Given the description of an element on the screen output the (x, y) to click on. 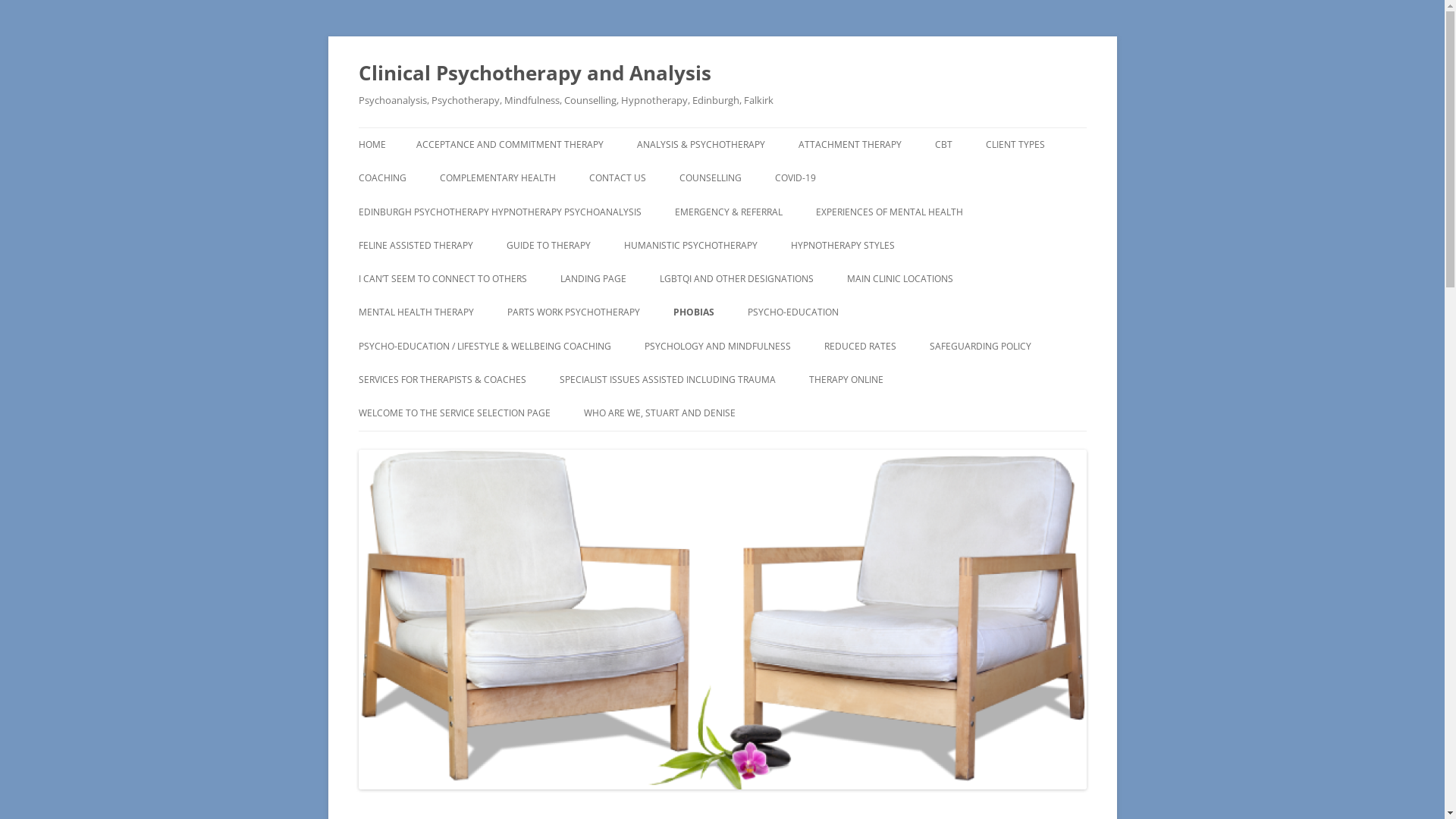
THERAPY ONLINE Element type: text (845, 379)
CBT Element type: text (942, 144)
MENTAL HEALTH THERAPY Element type: text (415, 312)
HYPNOSIS Element type: text (865, 277)
COGNITIVE BEHAVIOURAL ANALYSIS Element type: text (1009, 185)
MAIN CLINIC LOCATIONS Element type: text (899, 278)
EXECUTIVE LIFE COACHING AND MOTIVATIONAL COACHING Element type: text (433, 219)
COMPLEMENTARY HEALTH Element type: text (497, 177)
ATTACHMENT THERAPY Element type: text (848, 144)
WHO ARE WE, STUART AND DENISE Element type: text (659, 412)
Clinical Psychotherapy and Analysis Element type: text (533, 72)
GUIDE TO THERAPY Element type: text (548, 245)
PSYCHO-EDUCATION Element type: text (792, 312)
Skip to content Element type: text (759, 132)
PHOBIAS Element type: text (693, 312)
CANCELLATION POLICY Element type: text (659, 445)
CHILDREN AND ADOLESCENTS Element type: text (1061, 176)
HYPNOTHERAPY STYLES Element type: text (842, 245)
EMERGENCY & REFERRAL Element type: text (728, 212)
PARTS WORK PSYCHOTHERAPY Element type: text (572, 312)
LINKS Element type: text (433, 411)
ON-LINE ANALYSIS AND PSYCHOANALYSIS Element type: text (884, 420)
COVID-19 Element type: text (795, 177)
CLIENT TYPES Element type: text (1014, 144)
PSYCHO-EDUCATION / LIFESTYLE & WELLBEING COACHING Element type: text (483, 346)
SAFEGUARDING POLICY Element type: text (980, 346)
ANALYSIS Element type: text (712, 176)
PSYCHOLOGY AND MINDFULNESS Element type: text (717, 346)
ATTENTION FOCUS TRAINING Element type: text (720, 378)
ETHICAL MINDFULNESS Element type: text (699, 277)
ANGER MANAGEMENT Element type: text (635, 411)
WELCOME TO THE SERVICE SELECTION PAGE Element type: text (453, 412)
HUMANISTIC PSYCHOTHERAPY Element type: text (689, 245)
LGBTQI AND OTHER DESIGNATIONS Element type: text (736, 278)
SPECIALIST ISSUES ASSISTED INCLUDING TRAUMA Element type: text (667, 379)
SEATED MASSAGE AND ACUPRESSURE Element type: text (515, 219)
REDUCED RATES Element type: text (859, 346)
COACHING Element type: text (381, 177)
COUPLES Element type: text (755, 210)
ANALYSIS & PSYCHOTHERAPY Element type: text (701, 144)
HOME Element type: text (371, 144)
CONTACT US Element type: text (616, 177)
ANXIETY Element type: text (433, 344)
ACROPHOBIA PHOBIA OF HEIGHTS Element type: text (749, 354)
FELINE ASSISTED THERAPY Element type: text (414, 245)
EDINBURGH PSYCHOTHERAPY HYPNOTHERAPY PSYCHOANALYSIS Element type: text (498, 212)
EXPERIENCES OF MENTAL HEALTH Element type: text (889, 212)
ACCEPTANCE AND COMMITMENT THERAPY Element type: text (508, 144)
SERVICES FOR THERAPISTS & COACHES Element type: text (441, 379)
COUNSELLING Element type: text (710, 177)
LANDING PAGE Element type: text (592, 278)
